Given the description of an element on the screen output the (x, y) to click on. 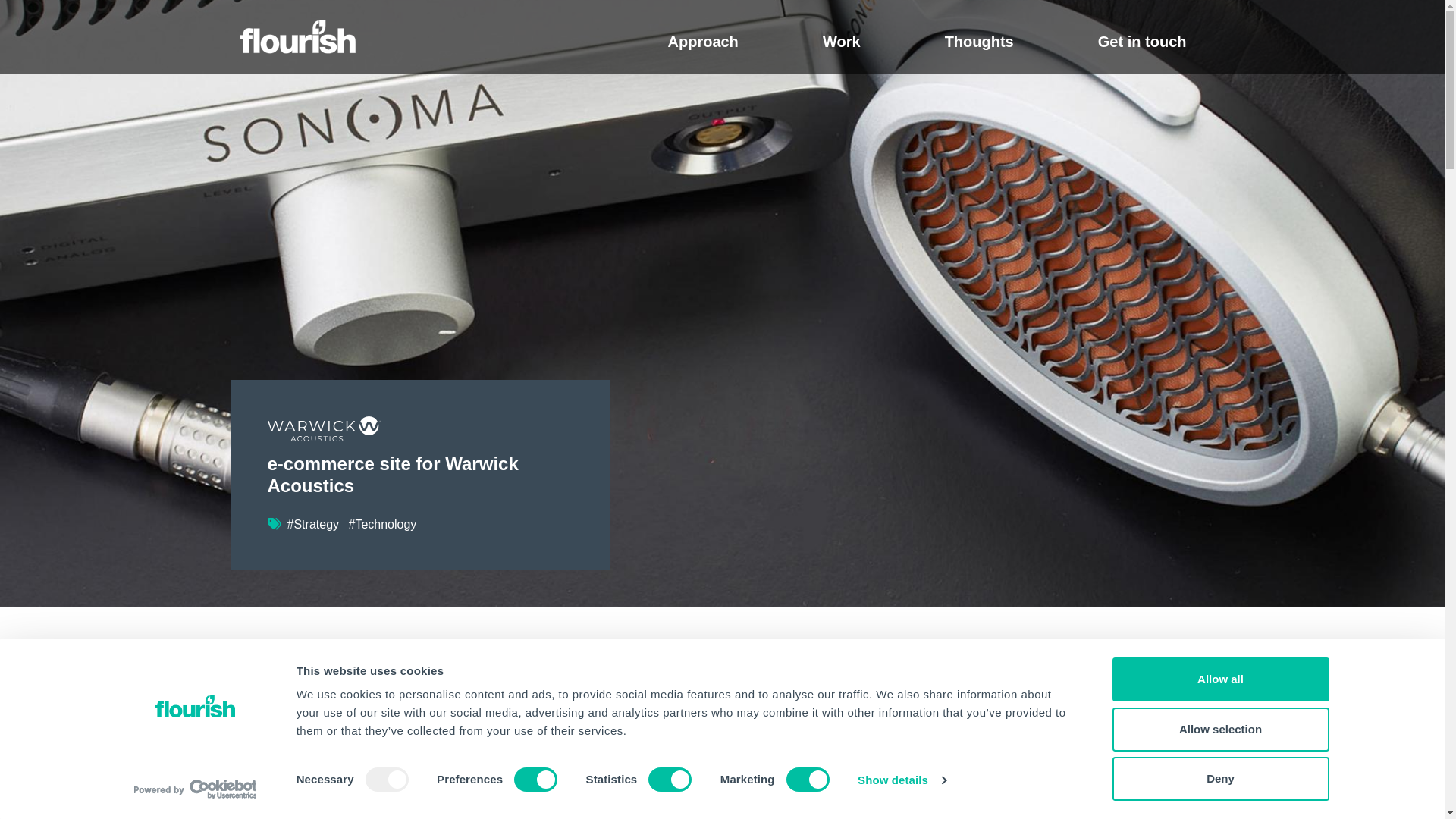
Show details (900, 780)
Flourish (297, 37)
